Given the description of an element on the screen output the (x, y) to click on. 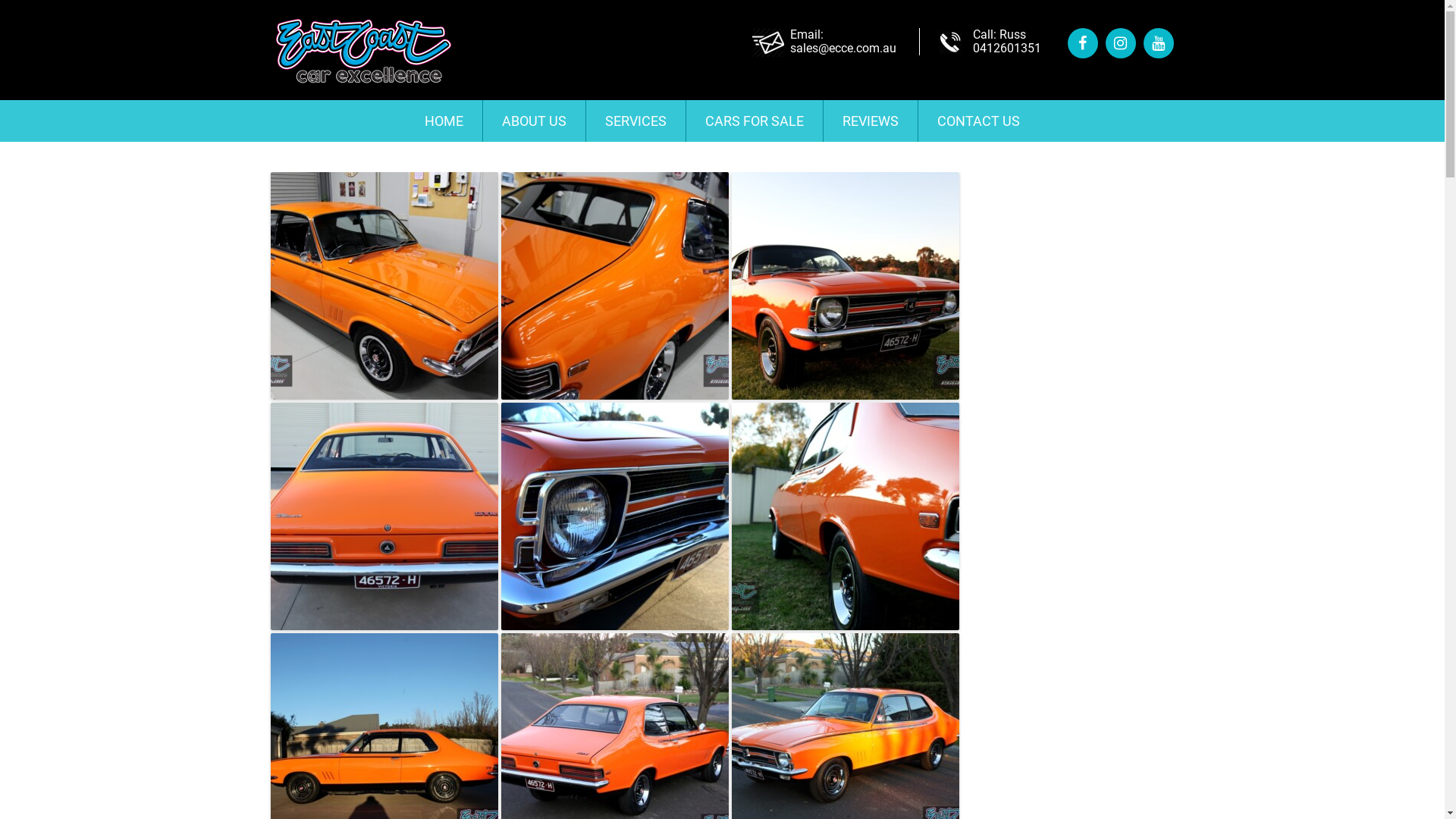
CONTACT US Element type: text (978, 120)
CARS FOR SALE Element type: text (754, 120)
SERVICES Element type: text (635, 120)
ABOUT US Element type: text (534, 120)
sales@ecce.com.au Element type: text (843, 47)
HOME Element type: text (443, 120)
0412601351 Element type: text (1006, 47)
REVIEWS Element type: text (870, 120)
